Given the description of an element on the screen output the (x, y) to click on. 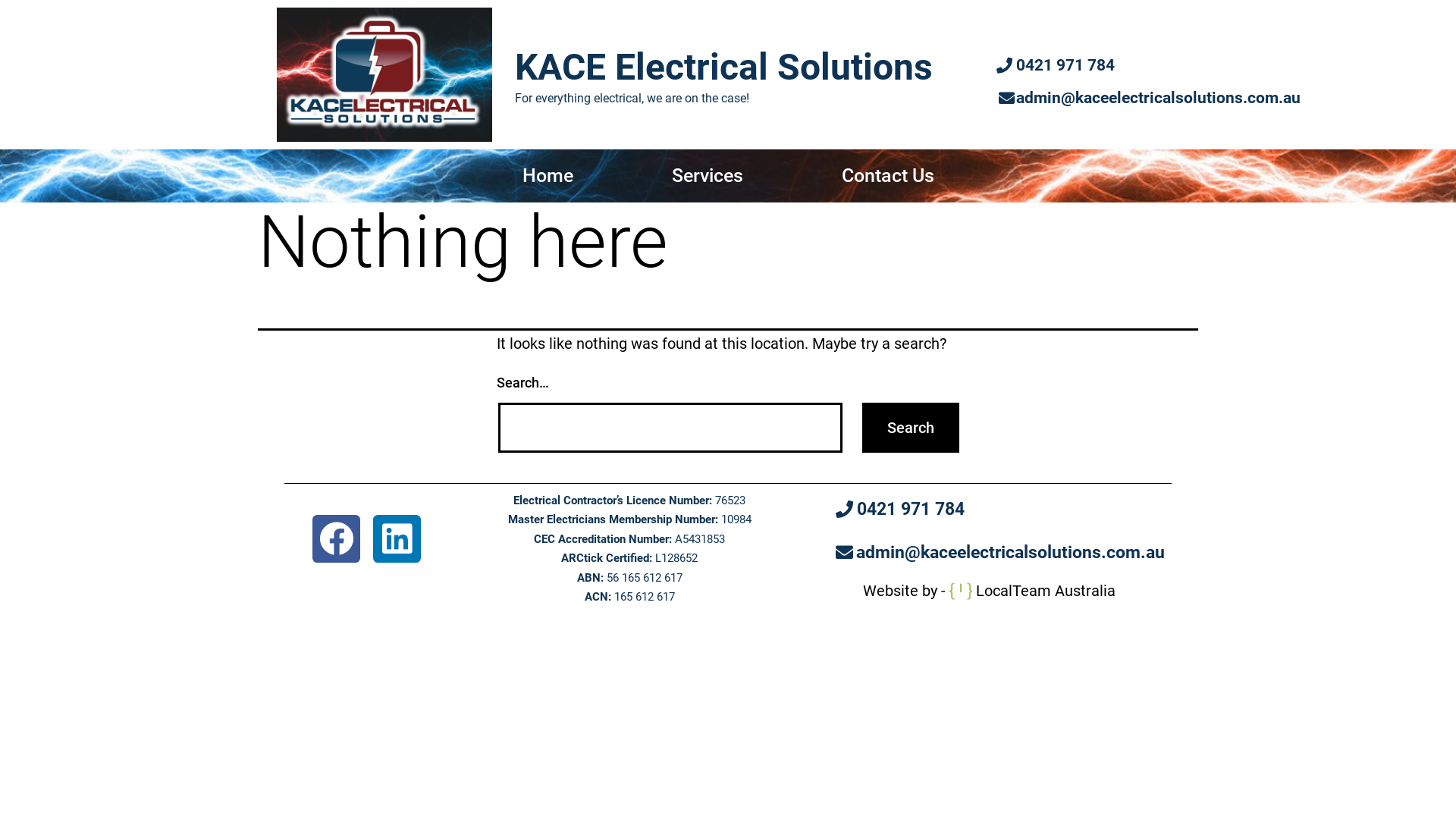
Contact Us Element type: text (886, 175)
admin@kaceelectricalsolutions.com.au Element type: text (1000, 552)
Kace Electrical Solutions logo Element type: hover (384, 74)
0421 971 784 Element type: text (1055, 65)
admin@kaceelectricalsolutions.com.au Element type: text (1149, 98)
Search Element type: text (910, 427)
LocalTeam Australia Element type: text (1045, 590)
0421 971 784 Element type: text (899, 509)
Home Element type: text (547, 175)
Services Element type: text (706, 175)
